Given the description of an element on the screen output the (x, y) to click on. 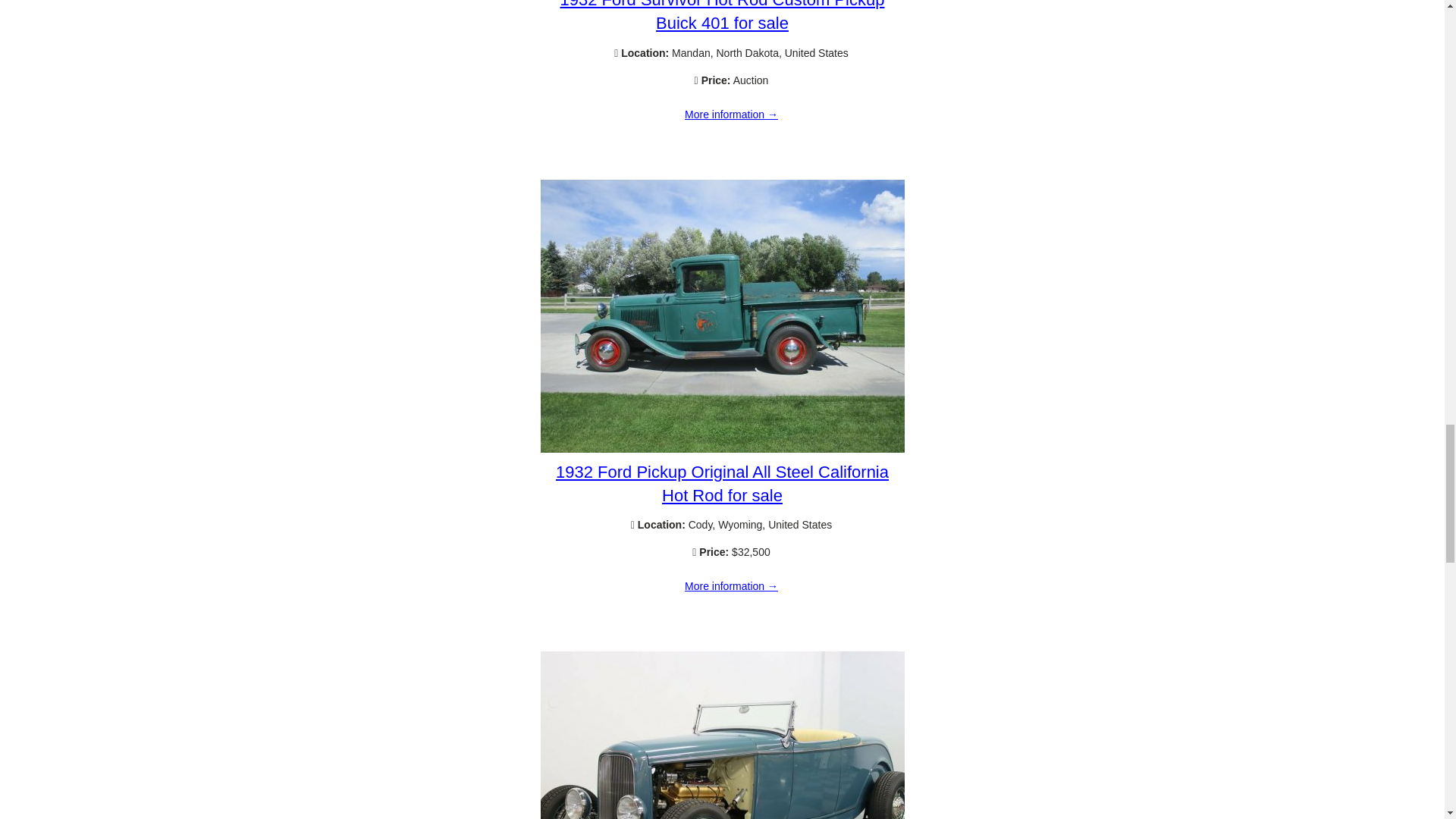
1932 Ford Survivor Hot Rod Custom Pickup Buick 401 for sale (731, 114)
1932 Ford Survivor Hot Rod Custom Pickup Buick 401 for sale (722, 16)
